Given the description of an element on the screen output the (x, y) to click on. 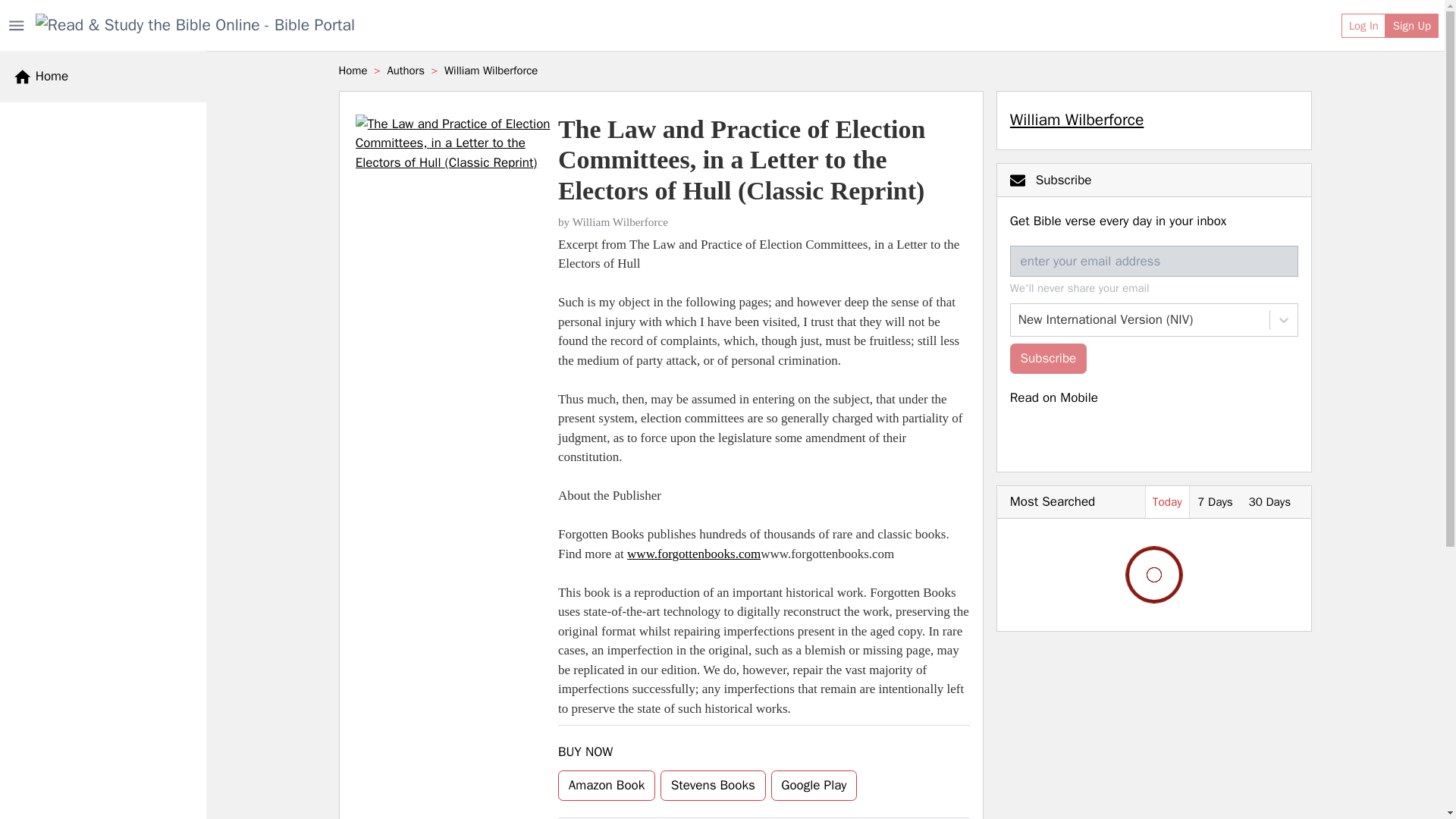
Log In (1363, 25)
Sign Up (1412, 25)
Home (40, 76)
